Given the description of an element on the screen output the (x, y) to click on. 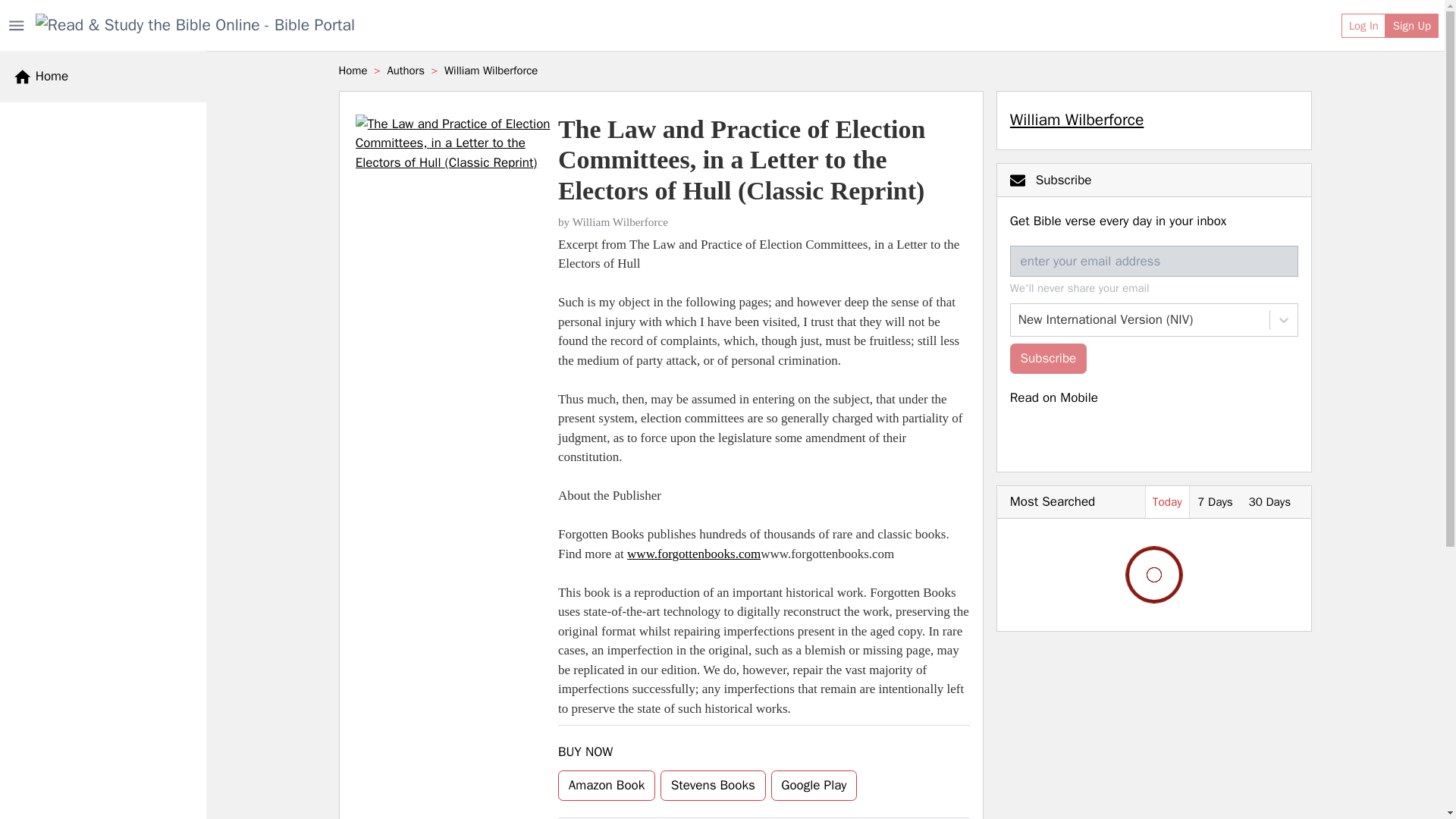
Log In (1363, 25)
Sign Up (1412, 25)
Home (40, 76)
